Given the description of an element on the screen output the (x, y) to click on. 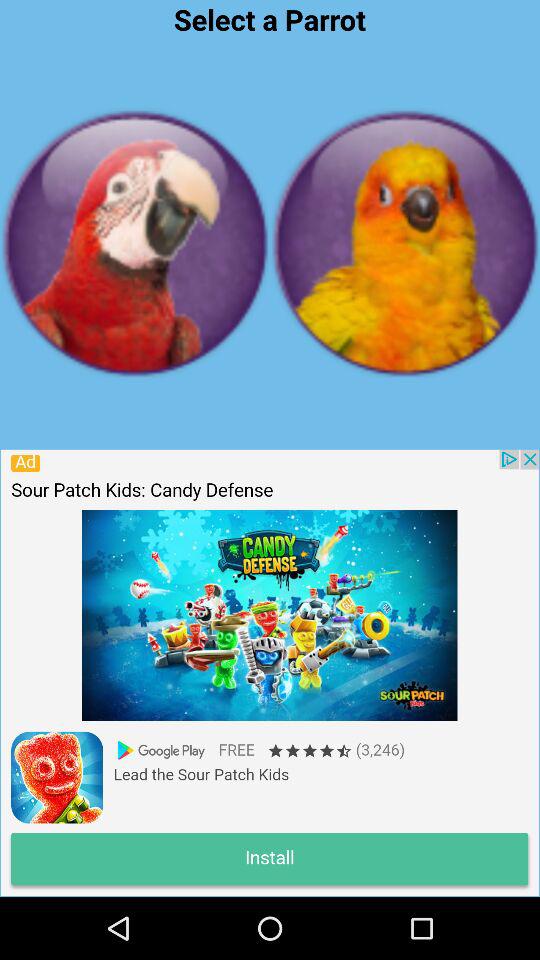
game of birds (405, 243)
